Given the description of an element on the screen output the (x, y) to click on. 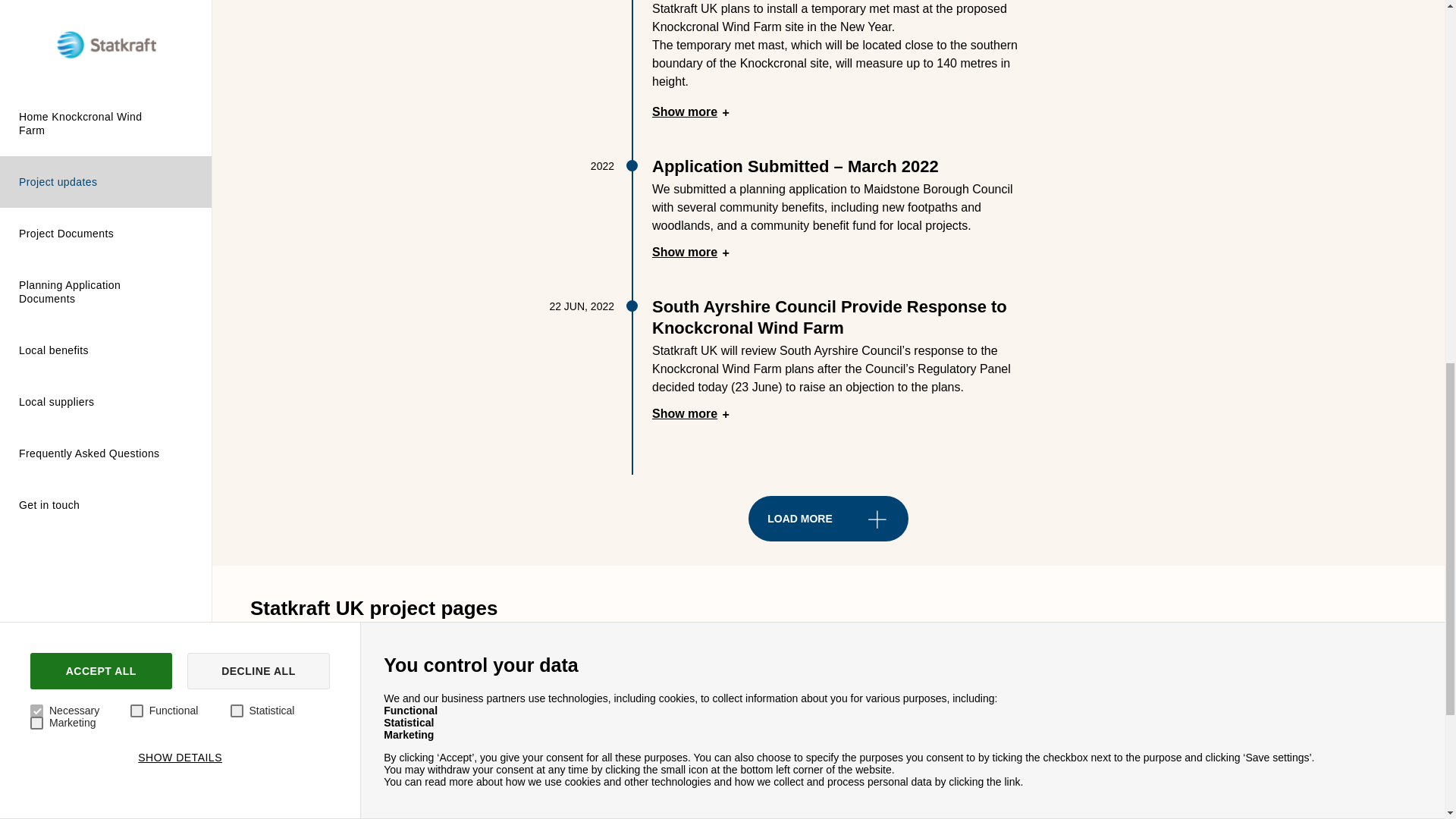
.AspNetCore.Antiforgeryxxx (1165, 80)
a year (990, 129)
CookieInformationConsent (1165, 129)
projects.statkraft.co.uk (1341, 129)
projects.statkraft.co.uk (51, 283)
Microsoft, ASP.NET (1341, 80)
COOKIE POLICY (463, 80)
Pending (90, 27)
Optimizely (638, 178)
Session (463, 91)
Supports the website's technical functions. (990, 178)
Cloudflare (638, 129)
